Given the description of an element on the screen output the (x, y) to click on. 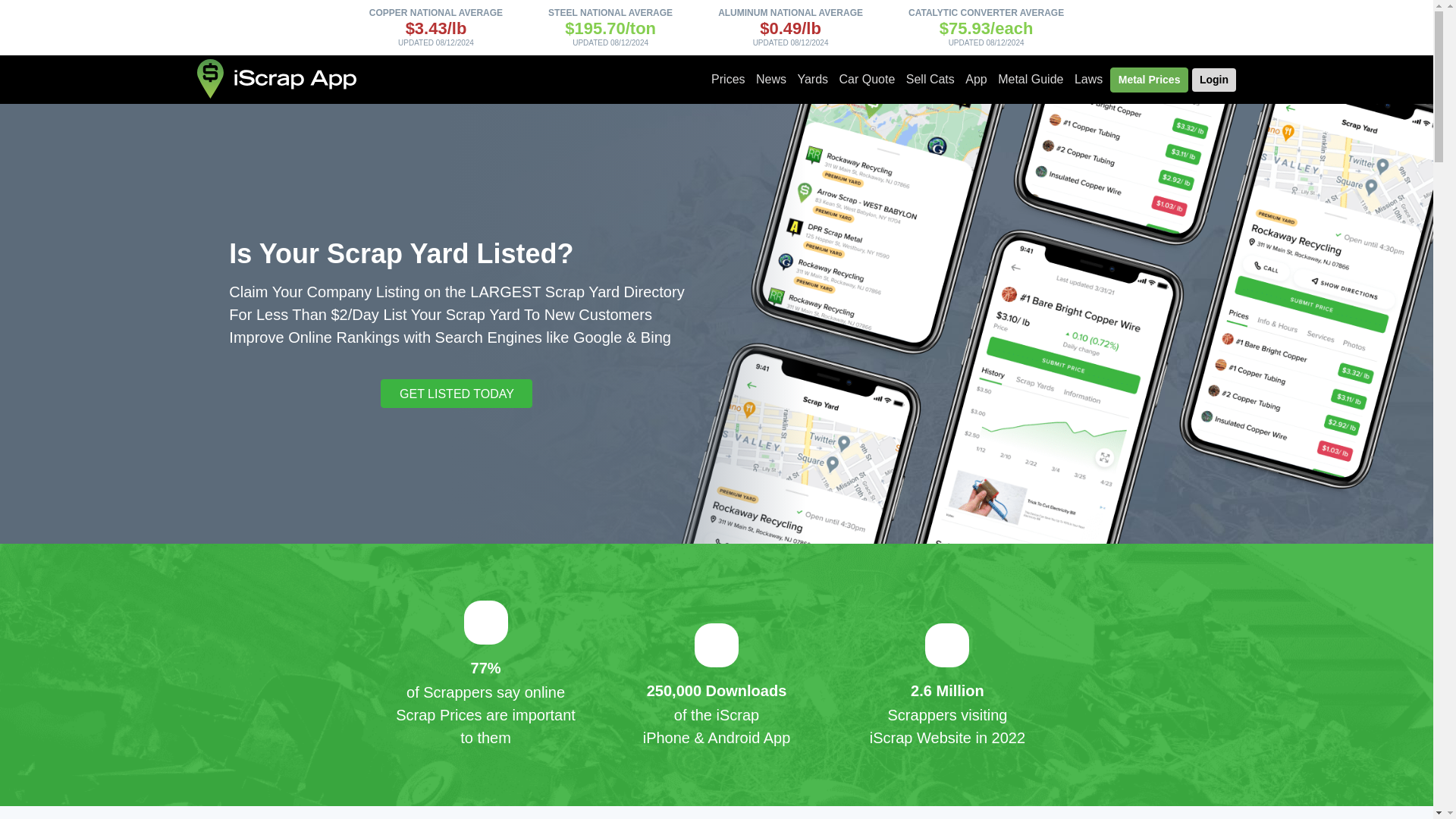
Sell Cats (930, 79)
CATALYTIC CONVERTER AVERAGE (986, 12)
Car Quote (867, 79)
COPPER NATIONAL AVERAGE (435, 12)
Metal Guide (1030, 79)
ALUMINUM NATIONAL AVERAGE (790, 12)
STEEL NATIONAL AVERAGE (610, 12)
Login (1214, 79)
GET LISTED TODAY (456, 393)
Metal Prices (1149, 79)
